Given the description of an element on the screen output the (x, y) to click on. 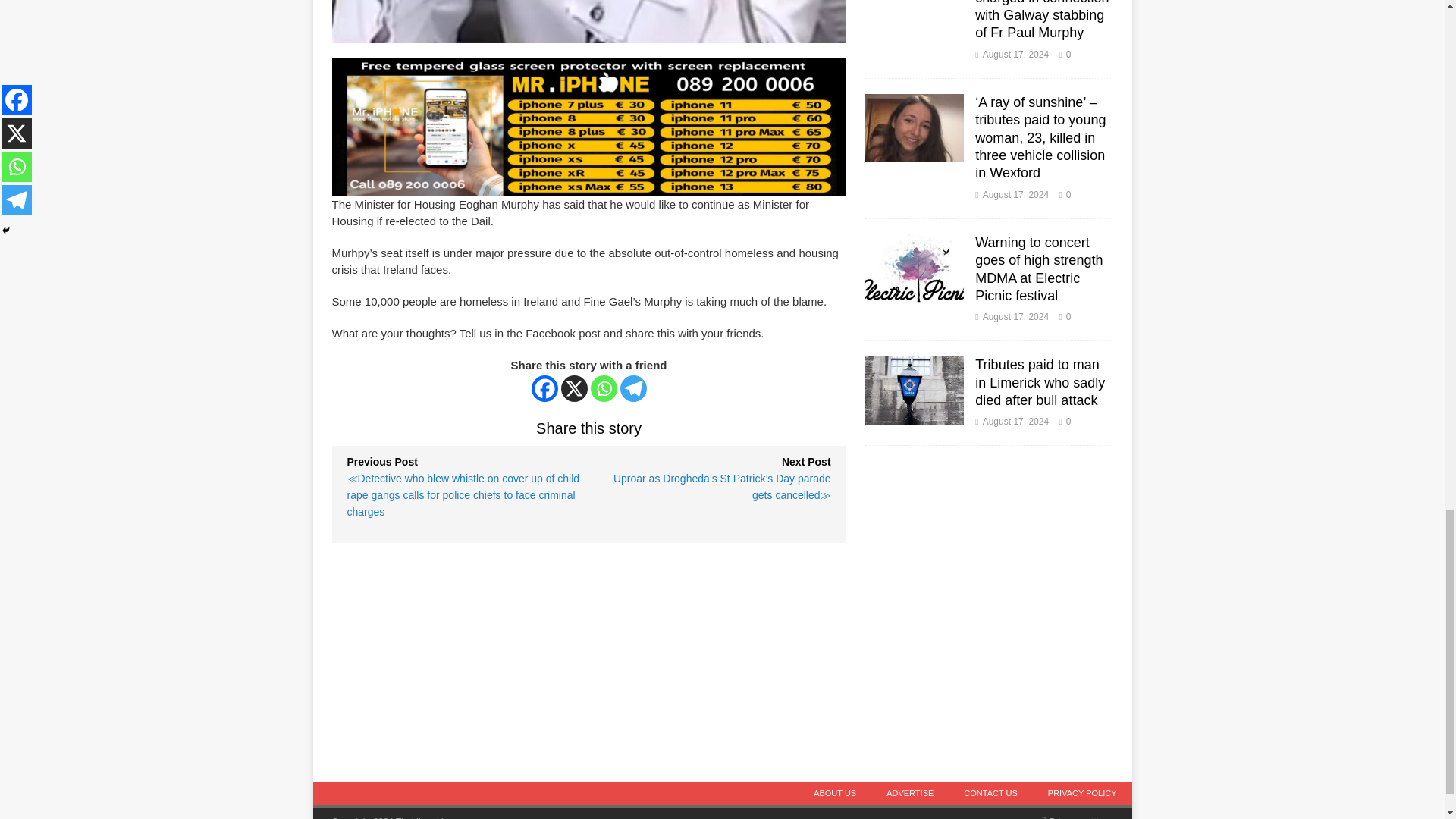
Whatsapp (604, 388)
Telegram (633, 388)
Facebook (544, 388)
X (574, 388)
